Given the description of an element on the screen output the (x, y) to click on. 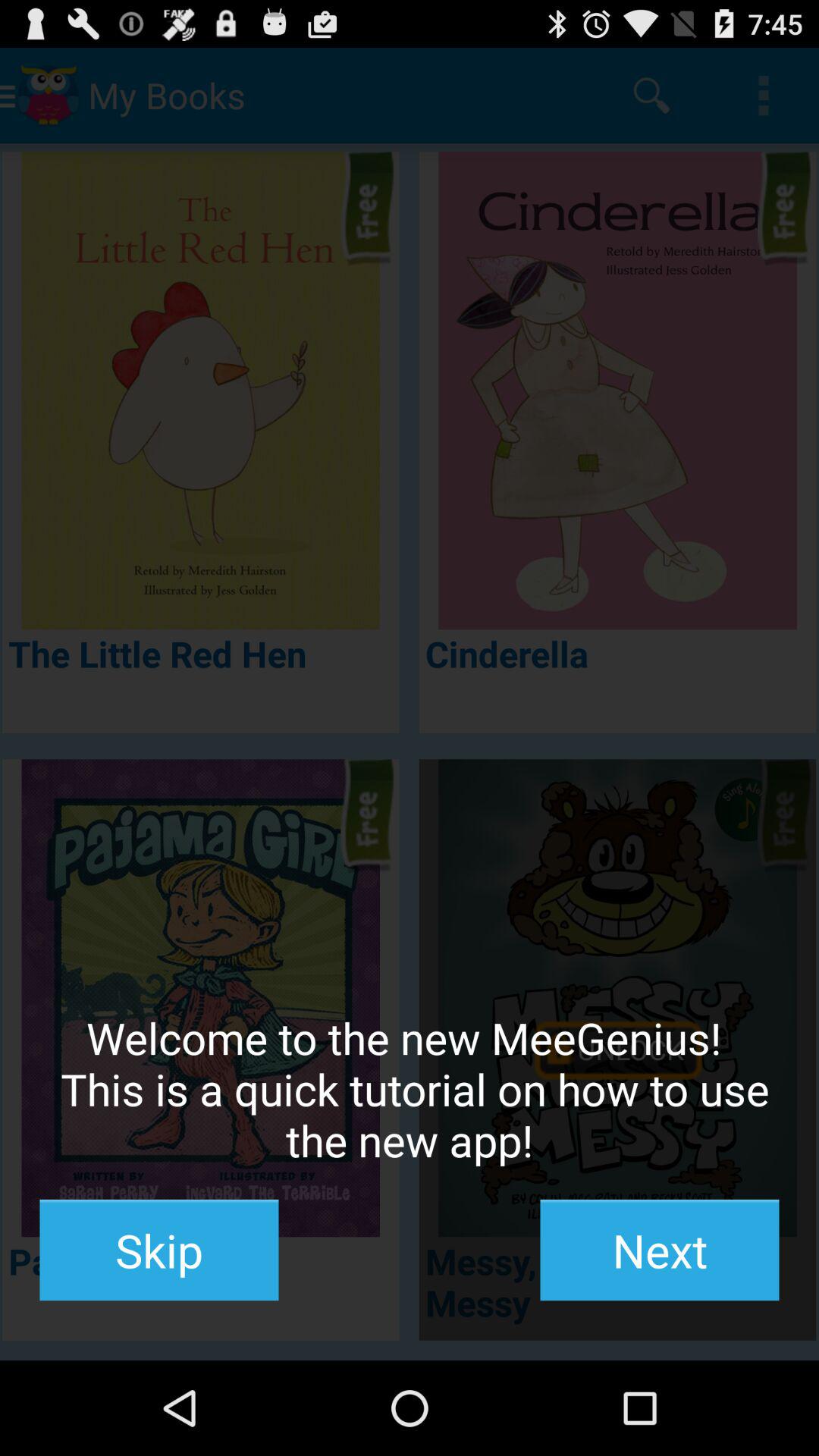
tap the icon at the bottom left corner (158, 1249)
